Given the description of an element on the screen output the (x, y) to click on. 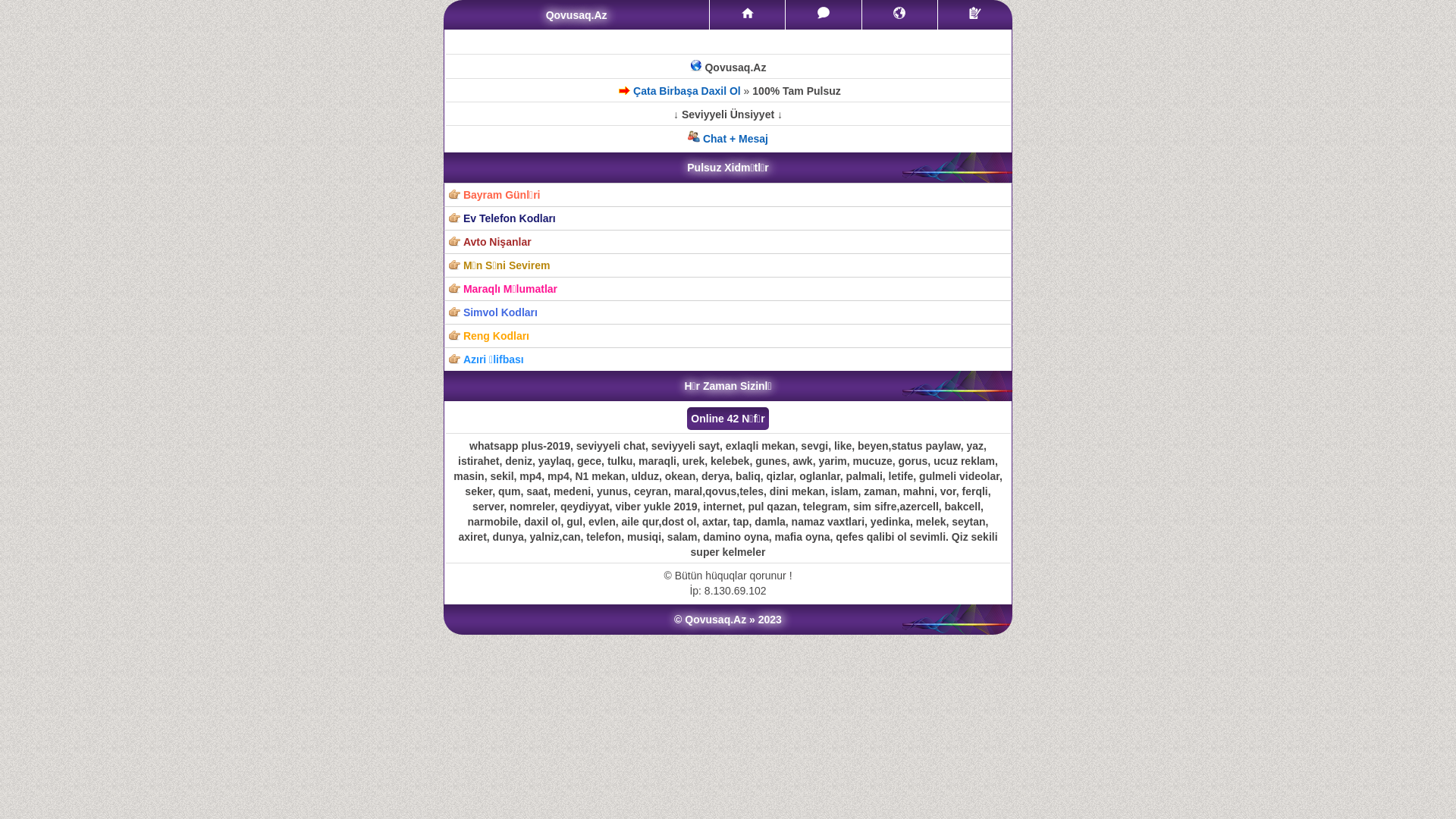
Mesajlar Element type: hover (823, 12)
Mesajlar Element type: hover (822, 14)
Chat + Mesaj Element type: text (727, 138)
Bildirisler Element type: hover (899, 12)
Qeydiyyat Element type: hover (974, 14)
Bildirisler Element type: hover (899, 14)
Qeydiyyat Element type: hover (975, 12)
